Given the description of an element on the screen output the (x, y) to click on. 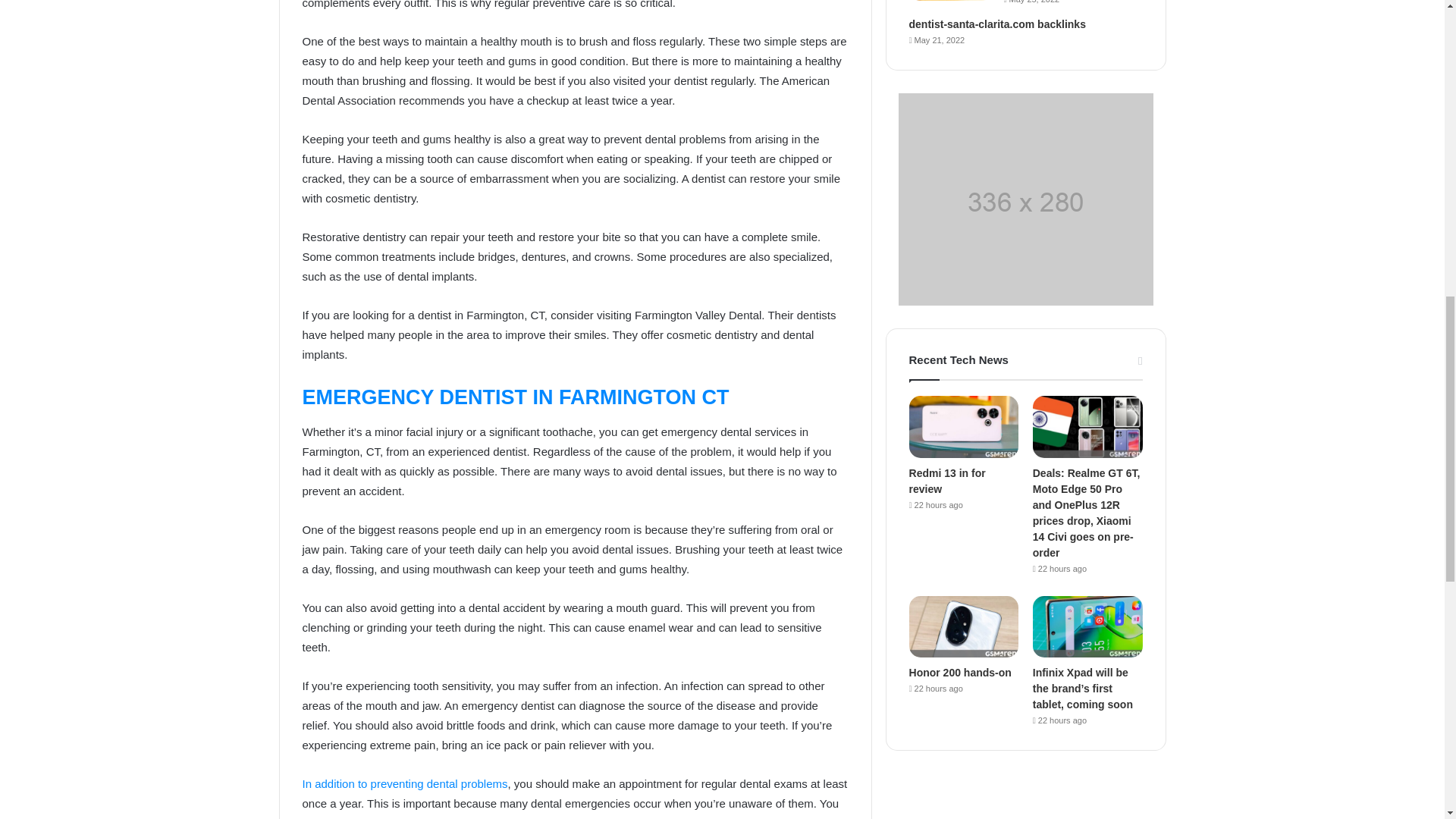
dentist-santa-clarita.com backlinks (997, 24)
In addition to preventing dental problems (403, 783)
EMERGENCY DENTIST IN FARMINGTON CT (515, 396)
